Given the description of an element on the screen output the (x, y) to click on. 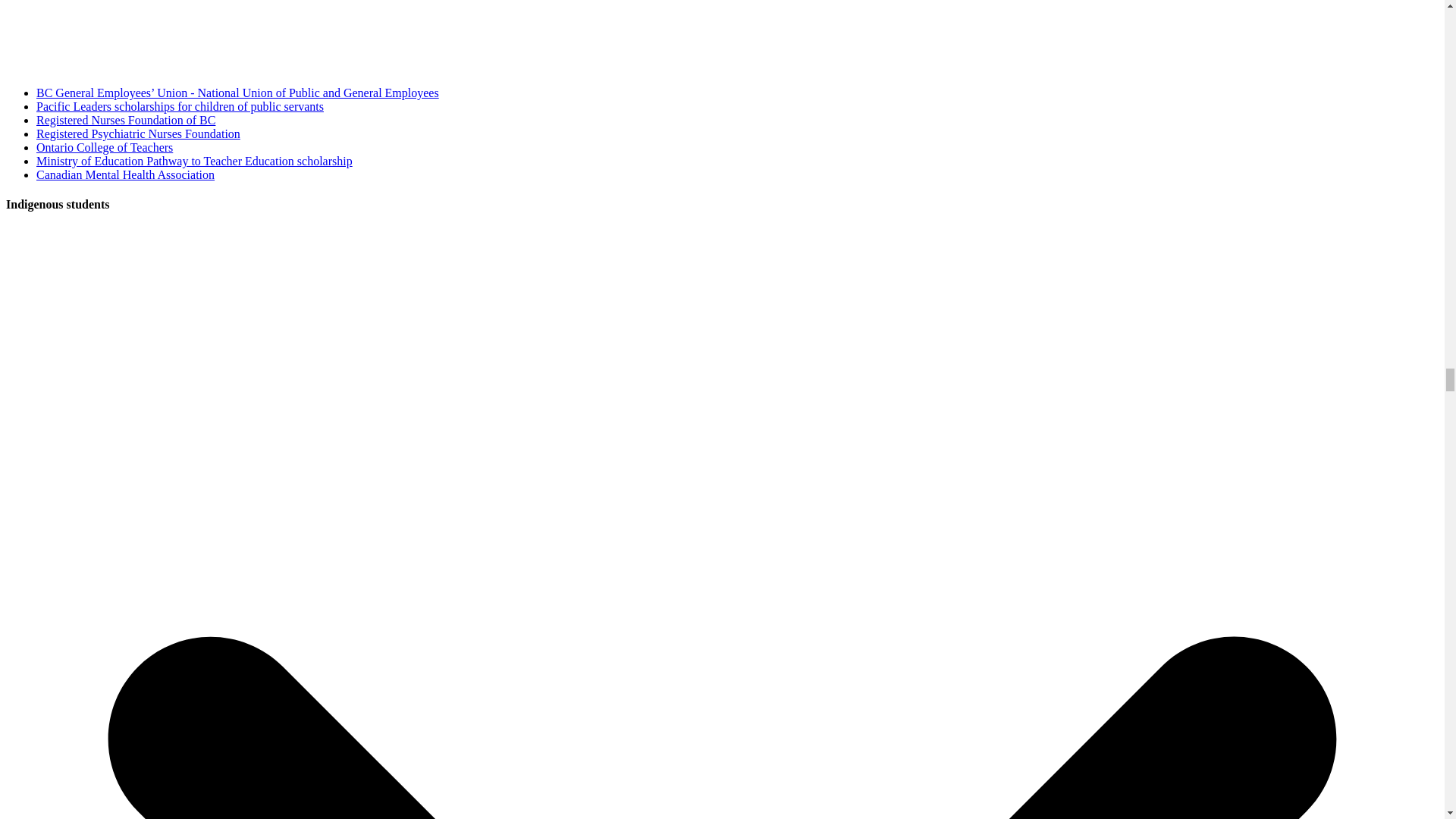
Ontario College of Teachers (104, 146)
Pacific Leaders scholarships for children of public servants (179, 106)
Registered Nurses Foundation of BC (125, 119)
Registered Psychiatric Nurses Foundation (138, 133)
Canadian Mental Health Association (125, 174)
